Given the description of an element on the screen output the (x, y) to click on. 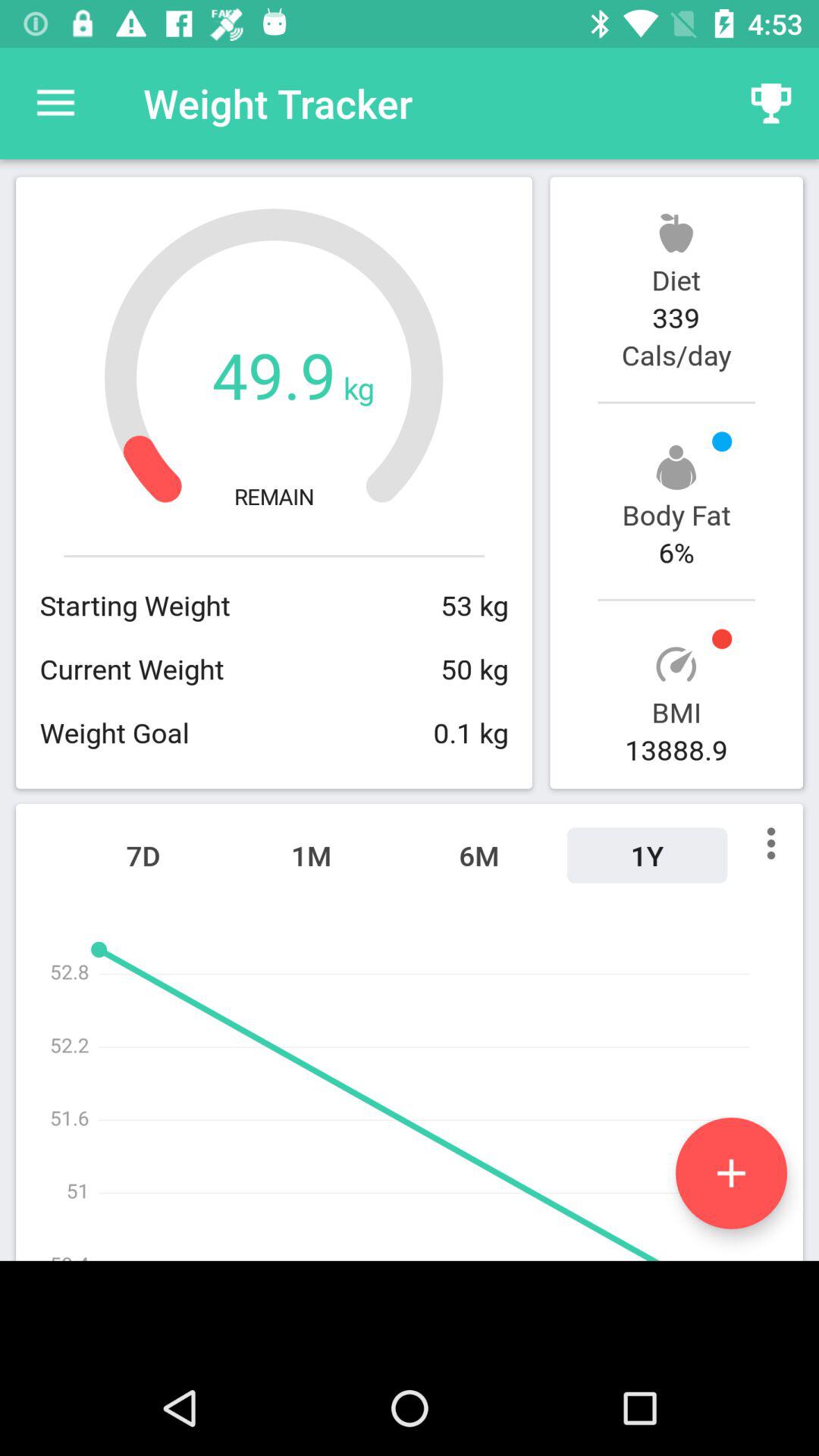
click the 1y item (647, 855)
